Given the description of an element on the screen output the (x, y) to click on. 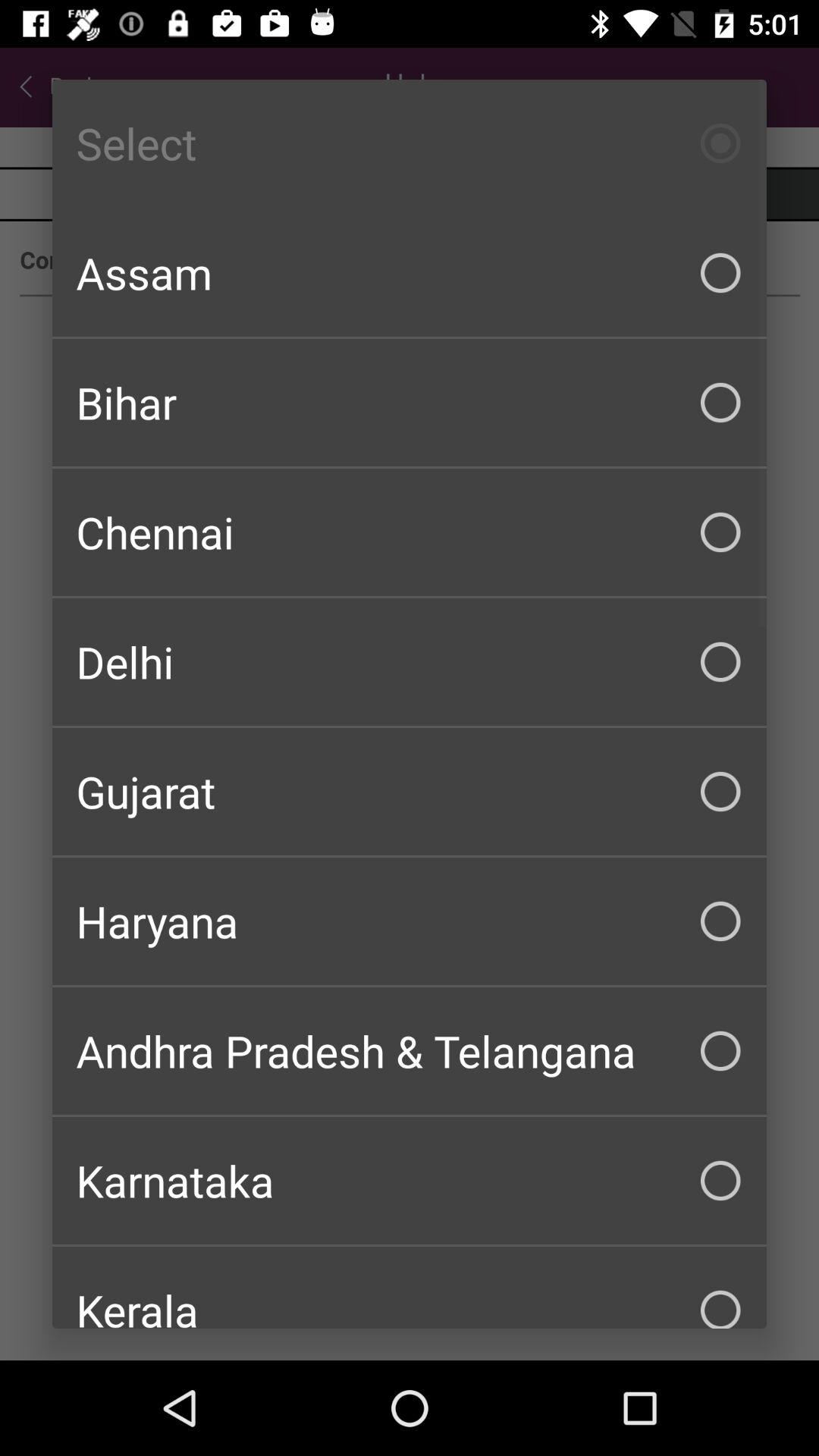
jump until the karnataka checkbox (409, 1180)
